Given the description of an element on the screen output the (x, y) to click on. 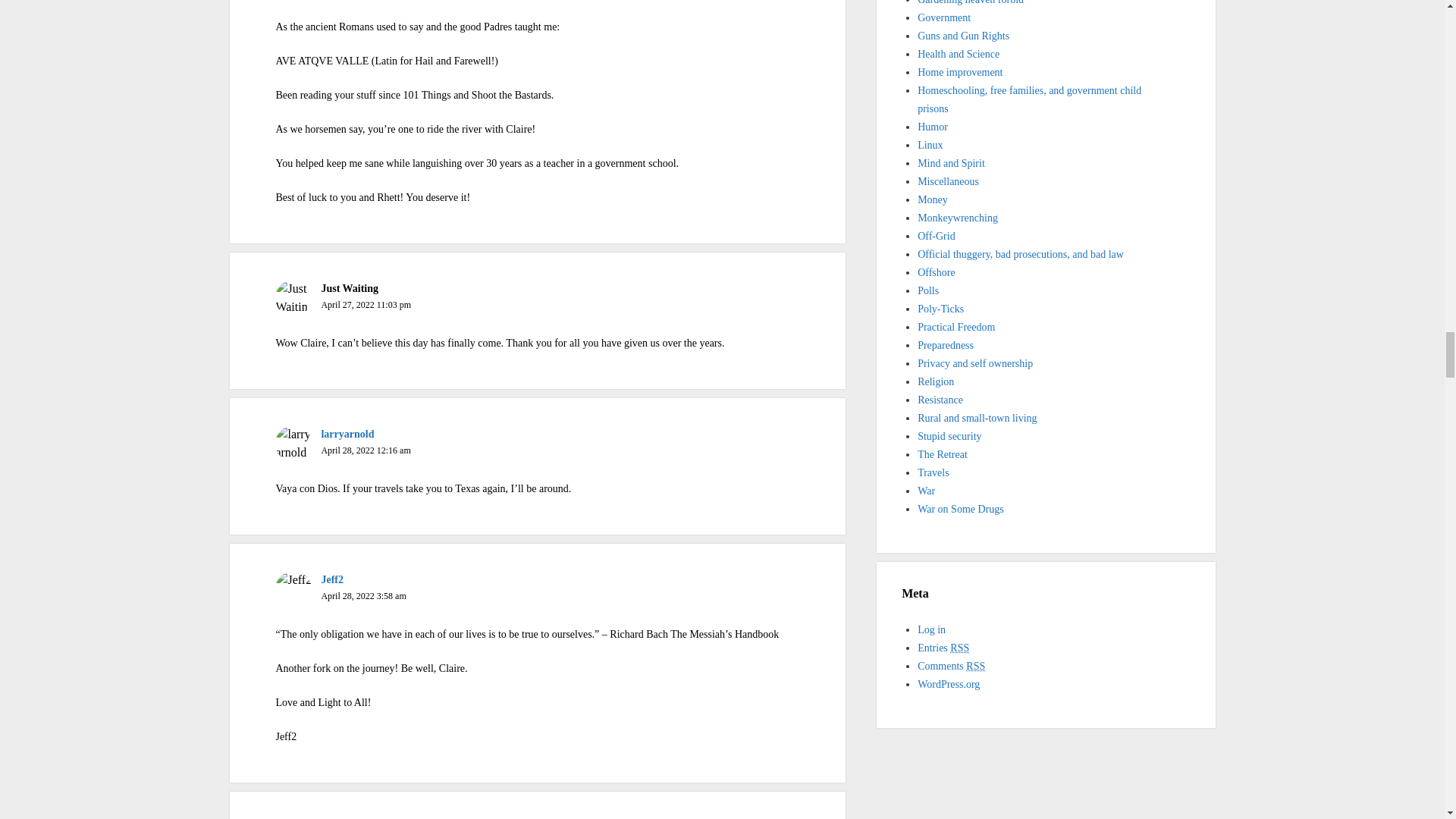
Of course. (963, 35)
larryarnold (347, 433)
Jeff2 (331, 579)
Government evils -- but I repeat myself (944, 17)
